Given the description of an element on the screen output the (x, y) to click on. 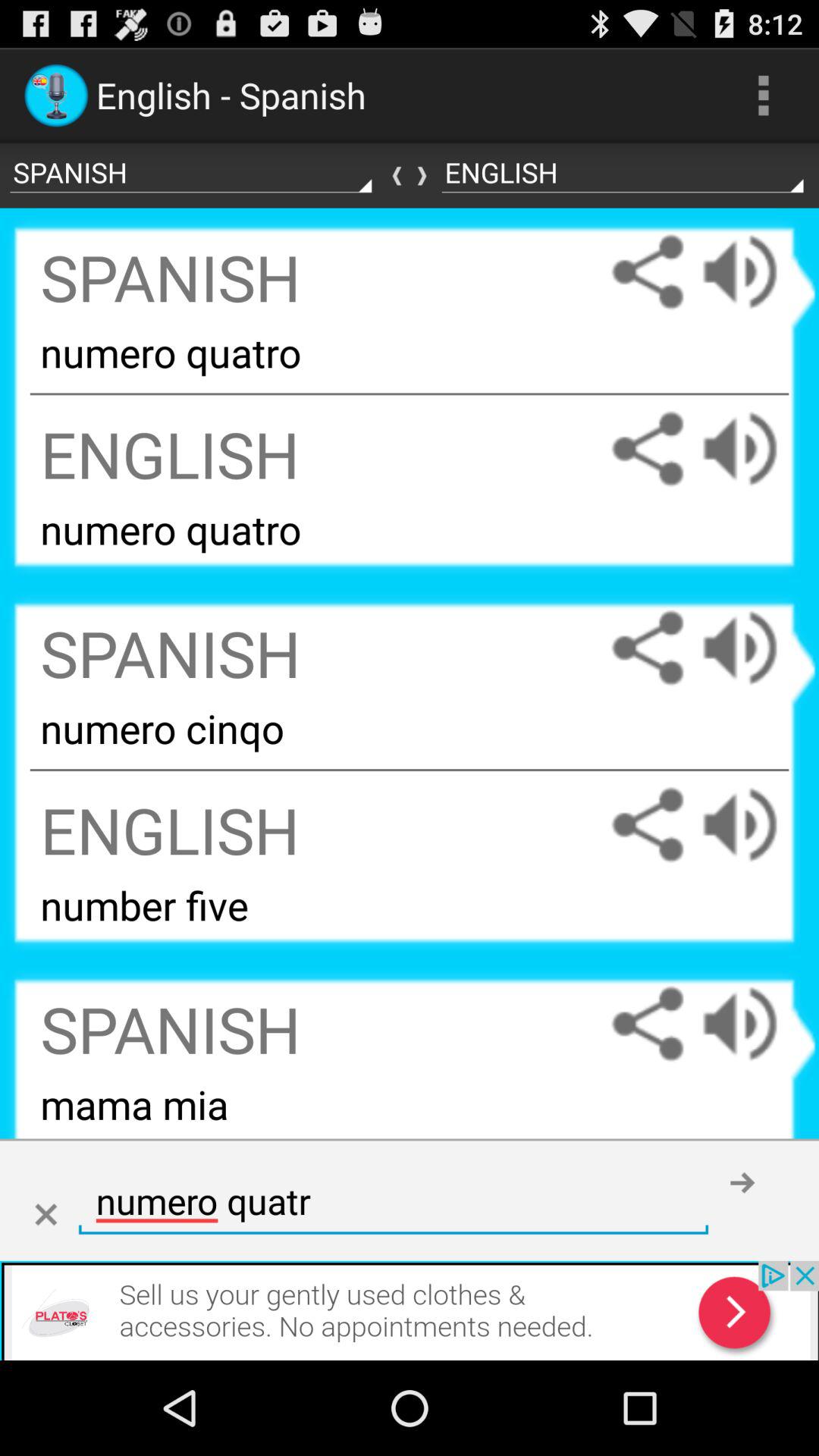
increase volume (754, 1023)
